Given the description of an element on the screen output the (x, y) to click on. 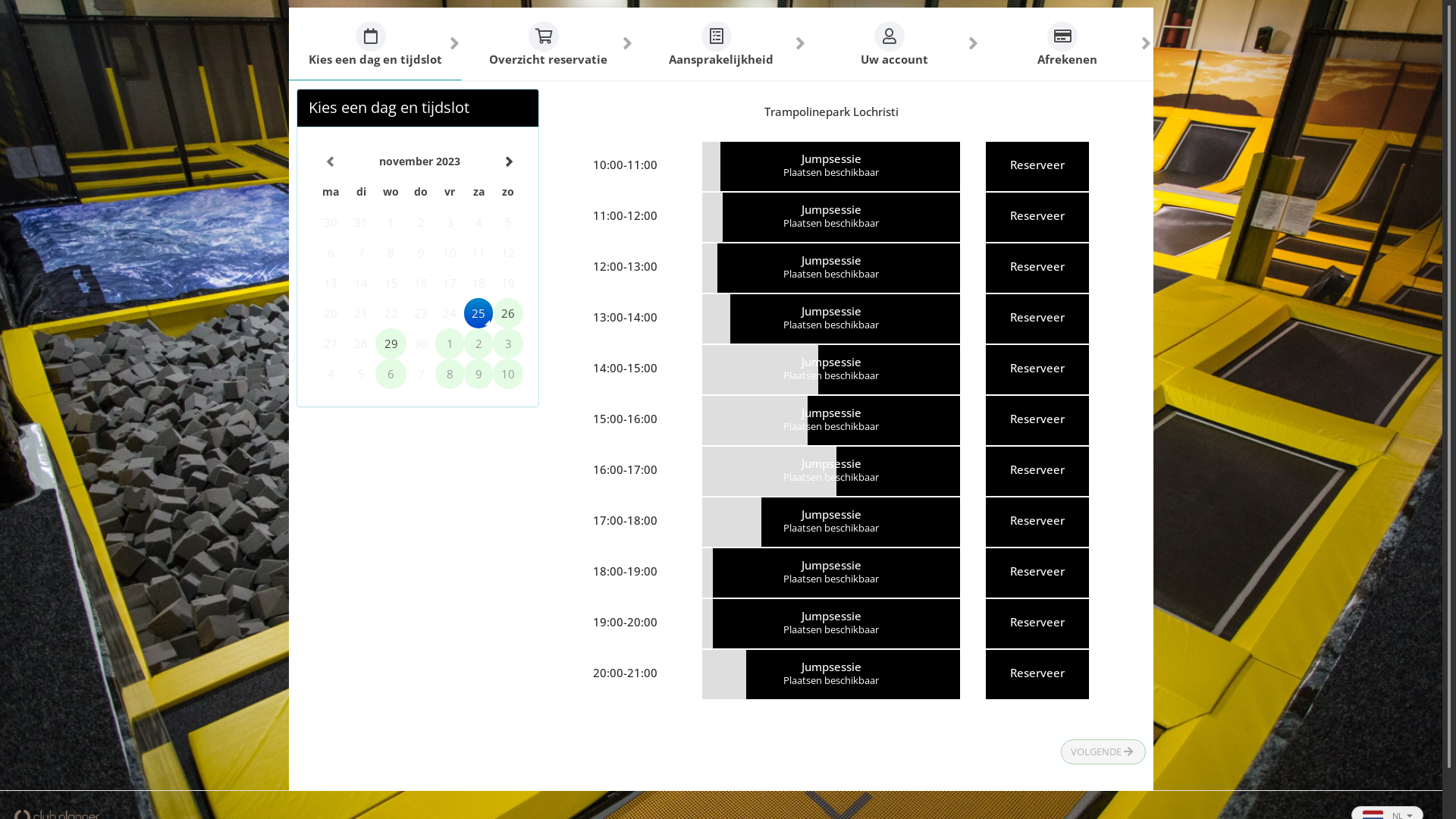
Aansprakelijkheid Element type: text (720, 43)
Uw account Element type: text (893, 43)
Reserveer Element type: text (1036, 623)
Overzicht reservatie Element type: text (547, 43)
Reserveer Element type: text (1036, 572)
Reserveer Element type: text (1036, 369)
Kies een dag en tijdslot Element type: text (374, 43)
Reserveer Element type: text (1036, 420)
Reserveer Element type: text (1036, 267)
Next Month Element type: hover (507, 161)
Reserveer Element type: text (1036, 521)
Reserveer Element type: text (1036, 318)
Afrekenen Element type: text (1066, 43)
Reserveer Element type: text (1036, 470)
VOLGENDE Element type: text (1102, 751)
Reserveer Element type: text (1036, 166)
Reserveer Element type: text (1036, 674)
Previous Month Element type: hover (330, 161)
Reserveer Element type: text (1036, 216)
